Given the description of an element on the screen output the (x, y) to click on. 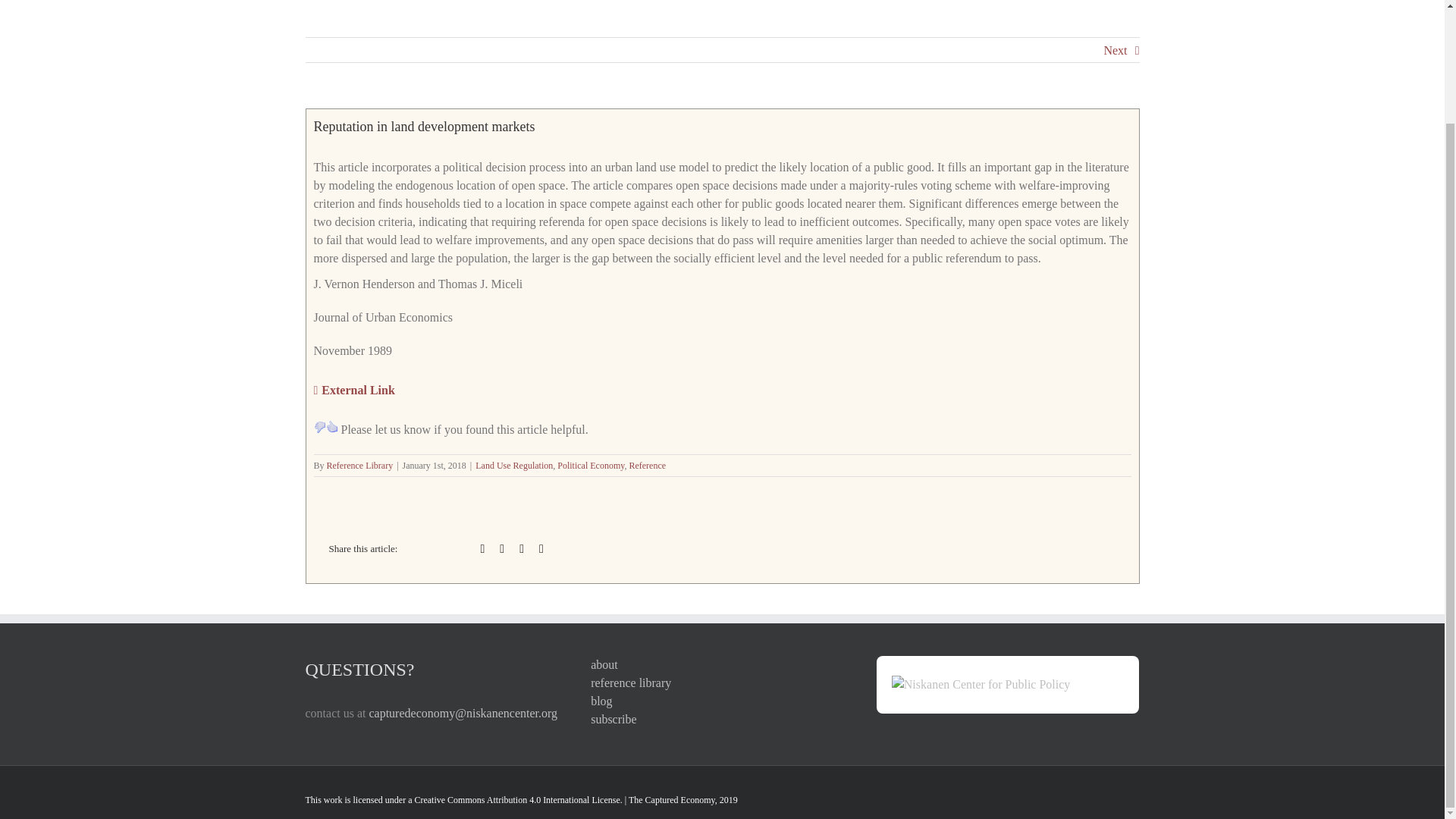
Reference (646, 465)
I didn't find this helpful. (320, 426)
Land Use Regulation (514, 465)
blog (722, 701)
Creative Commons Attribution 4.0 International License (516, 799)
This was helpful. (331, 426)
about (722, 665)
Political Economy (590, 465)
Posts by Reference Library (359, 465)
Reputation in land development markets (354, 390)
